Given the description of an element on the screen output the (x, y) to click on. 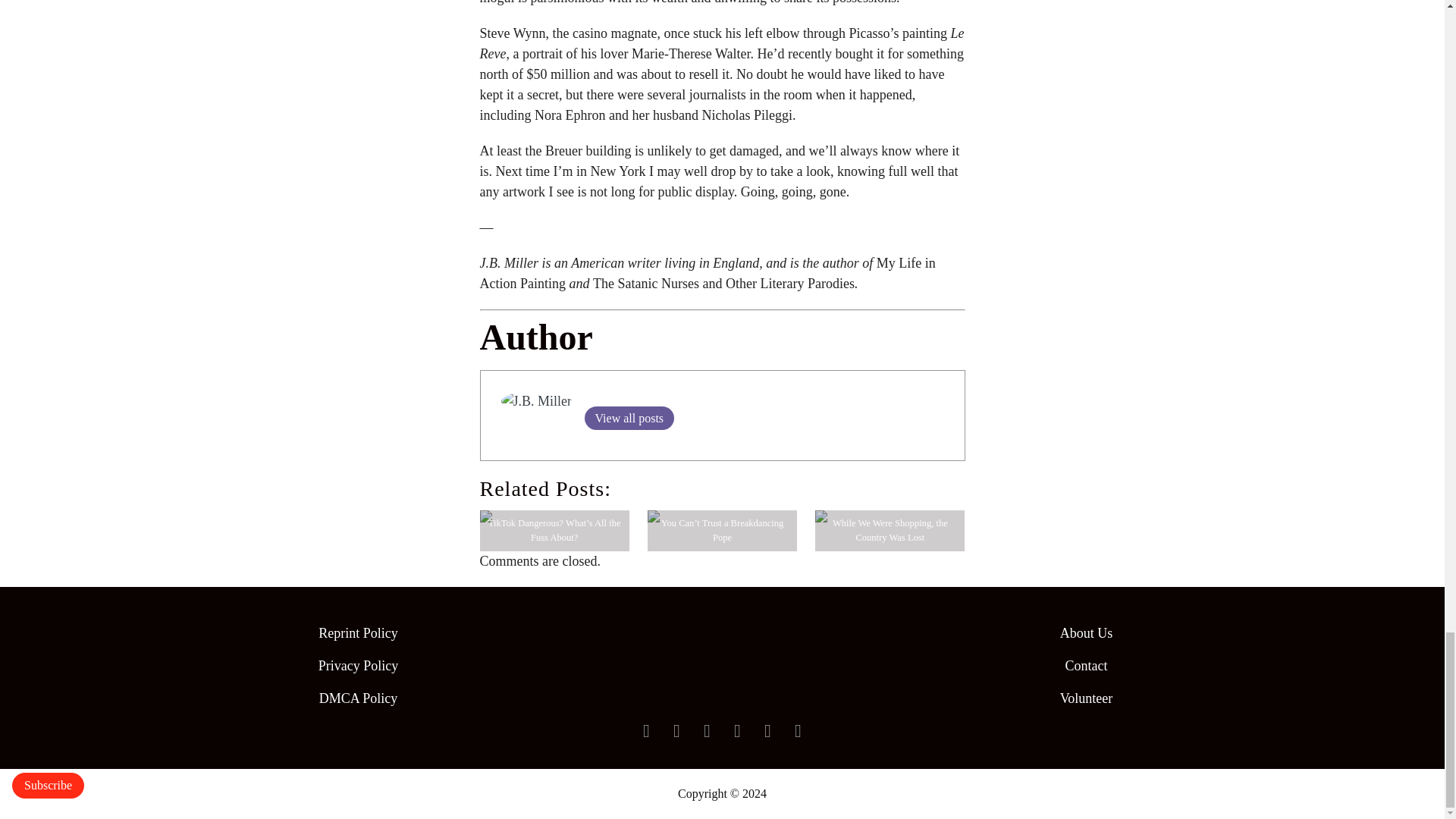
While We Were Shopping, the Country Was Lost (889, 530)
View all posts (628, 417)
